Given the description of an element on the screen output the (x, y) to click on. 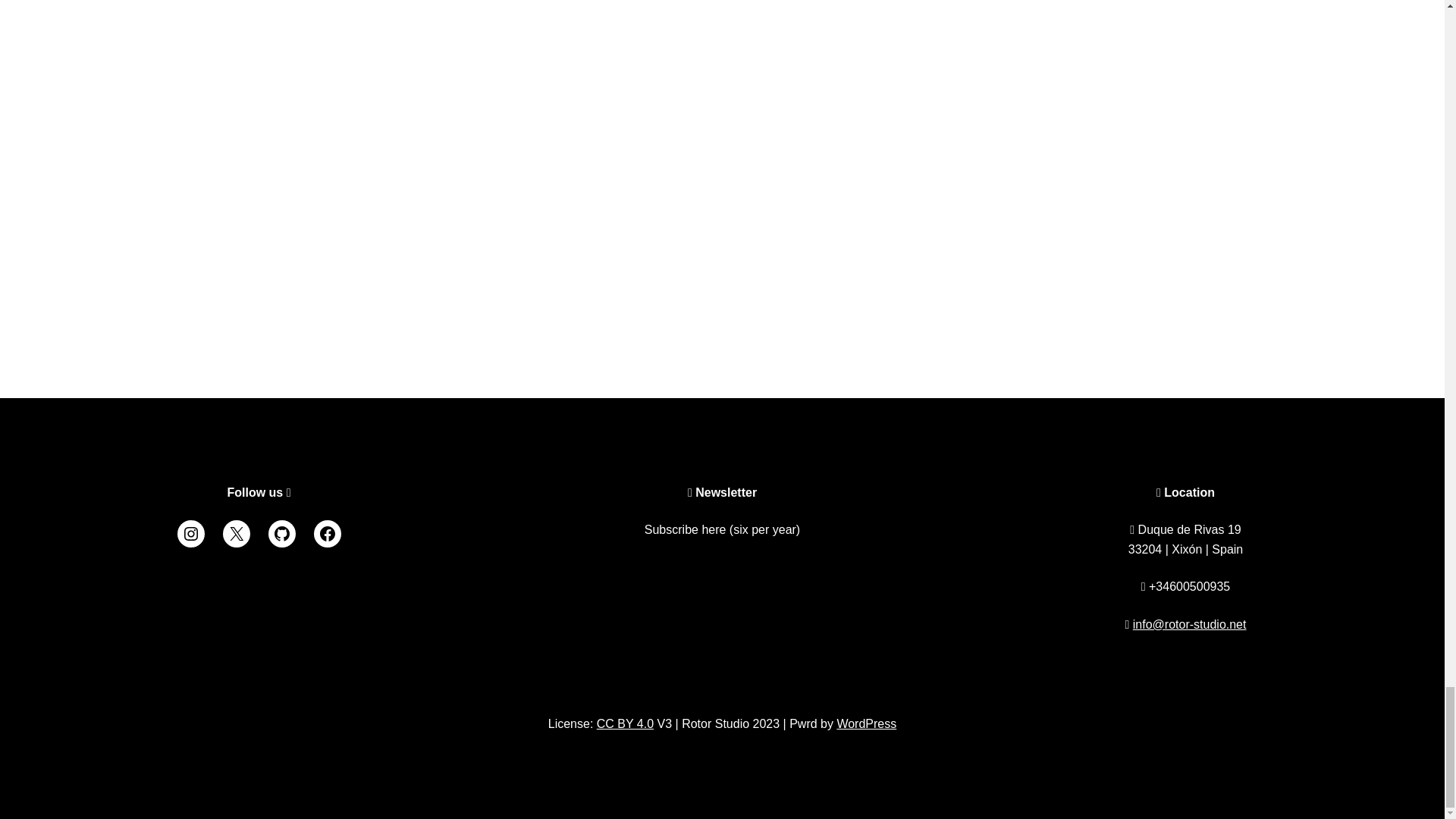
Instagram (191, 533)
Facebook (327, 533)
WordPress (865, 723)
CC BY 4.0 (624, 723)
X (236, 533)
GitHub (281, 533)
